Given the description of an element on the screen output the (x, y) to click on. 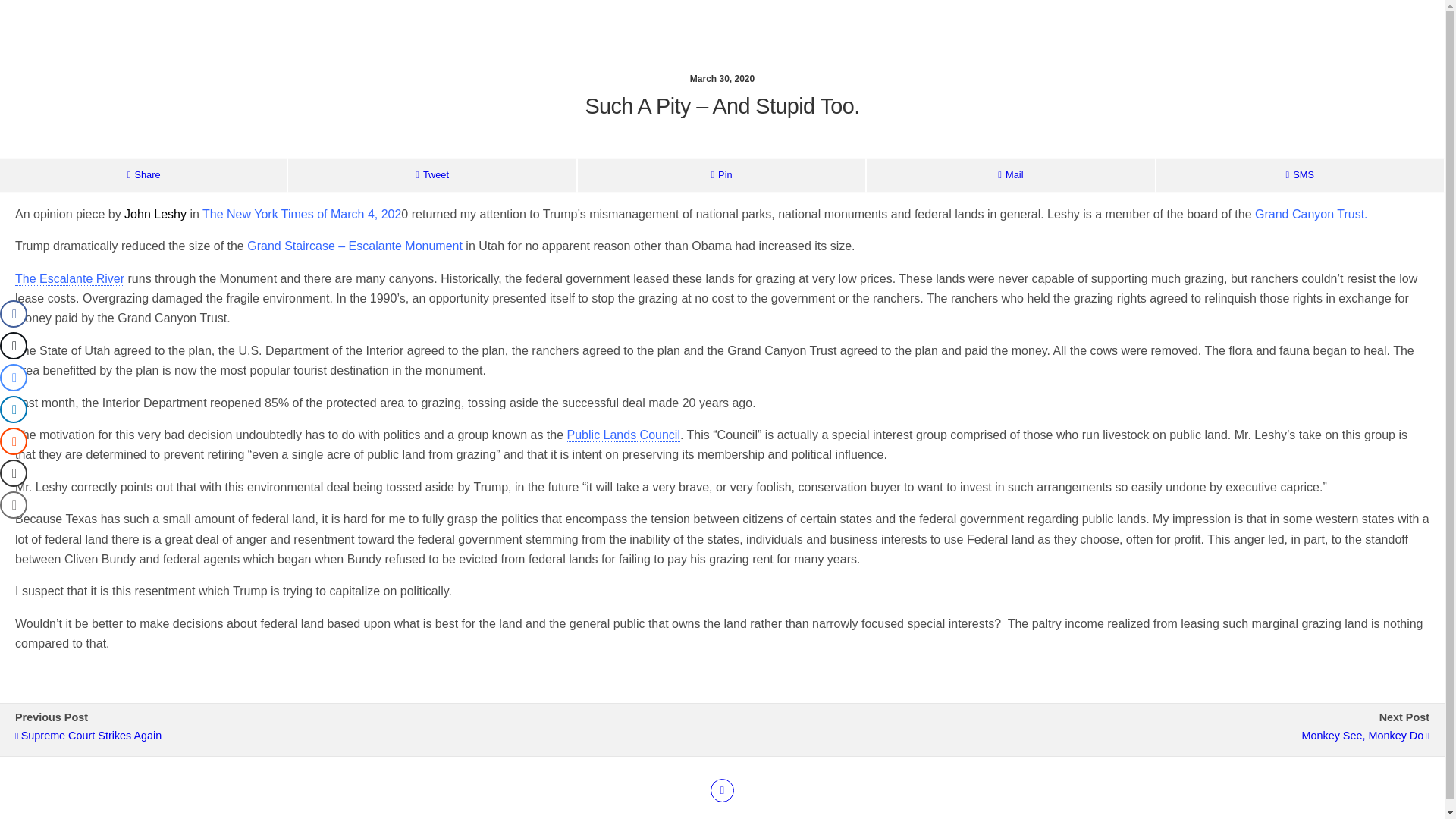
The Escalante River (68, 278)
Monkey See, Monkey Do (1082, 735)
Share (143, 174)
Mail (1010, 174)
Search (1230, 54)
Twitter (721, 790)
Tweet (431, 174)
Pin (721, 174)
Supreme Court Strikes Again (360, 735)
John Leshy (154, 214)
